Given the description of an element on the screen output the (x, y) to click on. 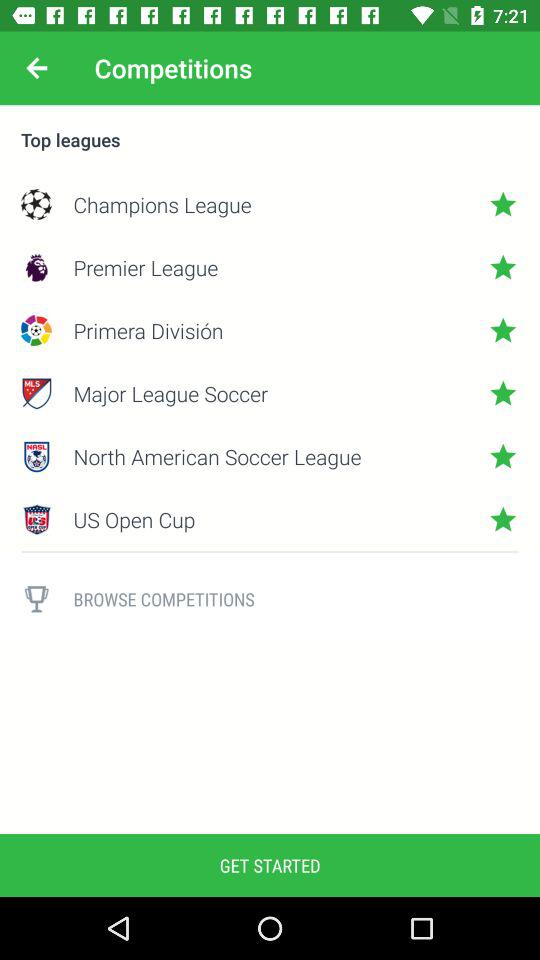
select north american soccer item (269, 456)
